Given the description of an element on the screen output the (x, y) to click on. 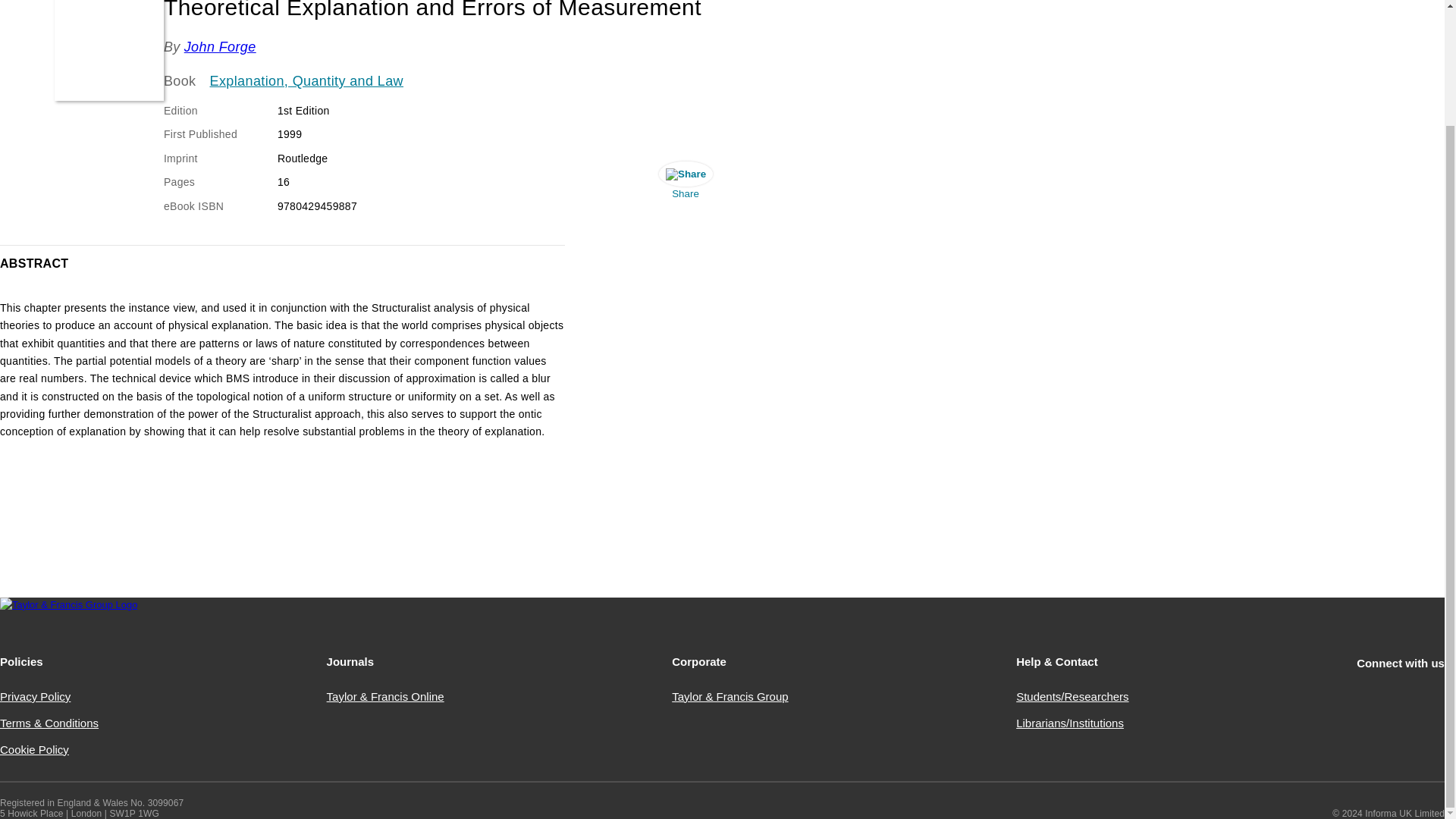
Theoretical Explanation and Errors of Measurement (109, 50)
John Forge (220, 46)
Privacy Policy (34, 696)
Cookie Policy (34, 749)
Explanation, Quantity and Law (306, 81)
Share (684, 183)
